Given the description of an element on the screen output the (x, y) to click on. 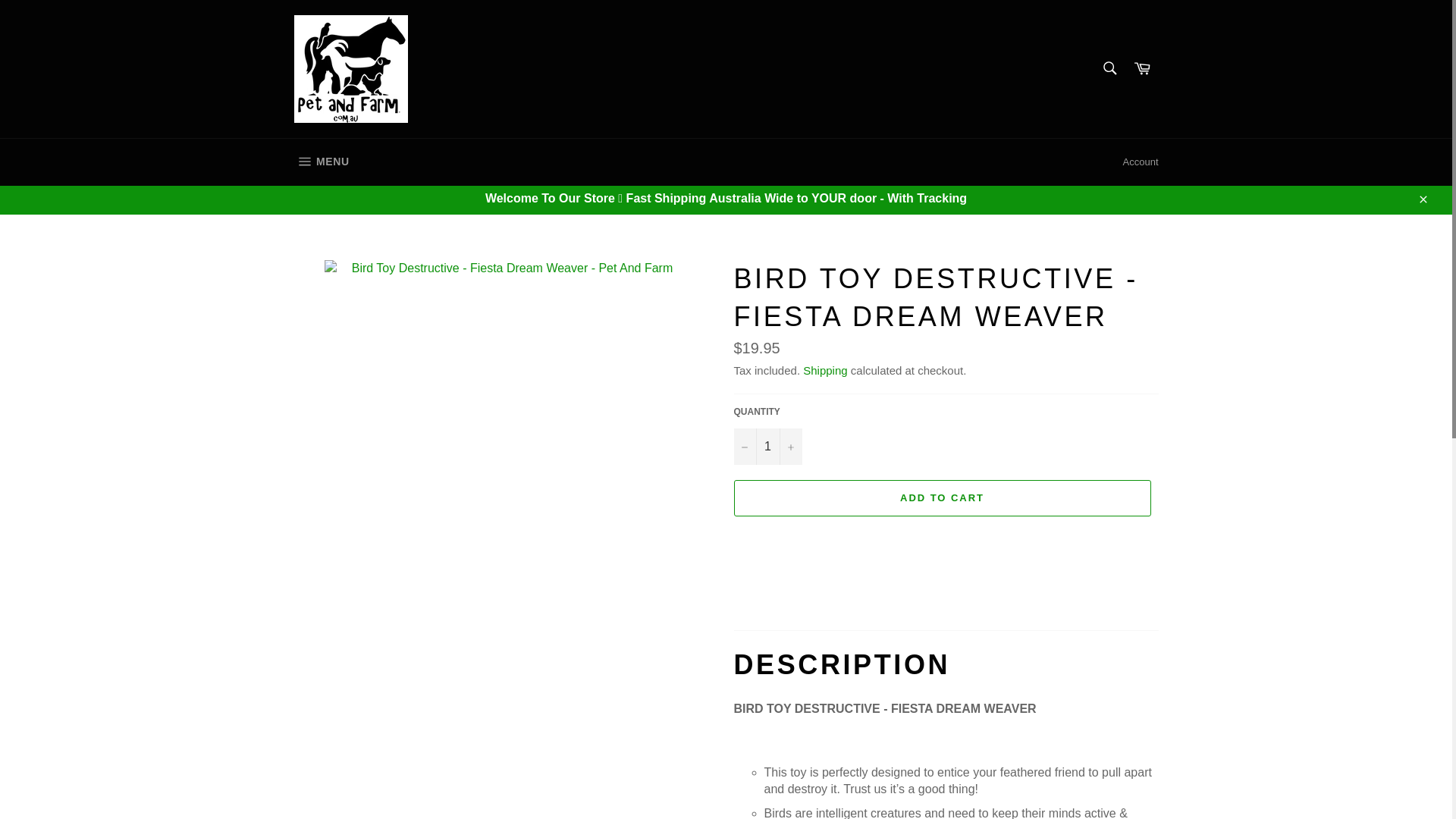
1 (767, 446)
